Given the description of an element on the screen output the (x, y) to click on. 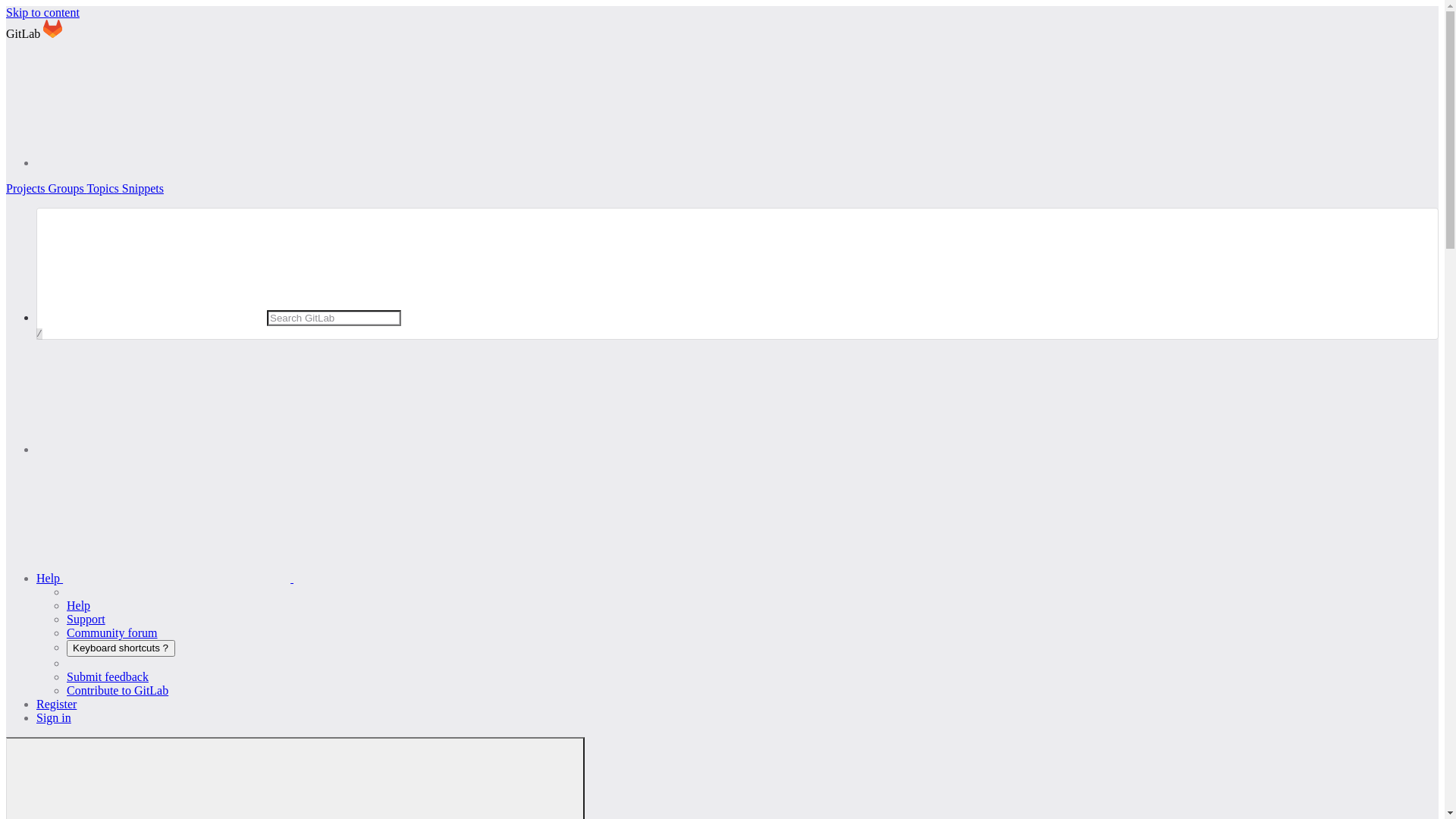
Search Element type: hover (149, 448)
Community forum Element type: text (111, 632)
Homepage Element type: hover (52, 33)
Groups Element type: text (67, 188)
Contribute to GitLab Element type: text (117, 690)
Support Element type: text (85, 618)
Help Element type: text (280, 577)
Keyboard shortcuts ? Element type: text (120, 648)
Submit feedback Element type: text (107, 676)
Skip to content Element type: text (42, 12)
Projects Element type: text (27, 188)
Sign in Element type: text (53, 717)
Register Element type: text (56, 703)
Topics Element type: text (103, 188)
Help Element type: text (78, 605)
Snippets Element type: text (142, 188)
